Given the description of an element on the screen output the (x, y) to click on. 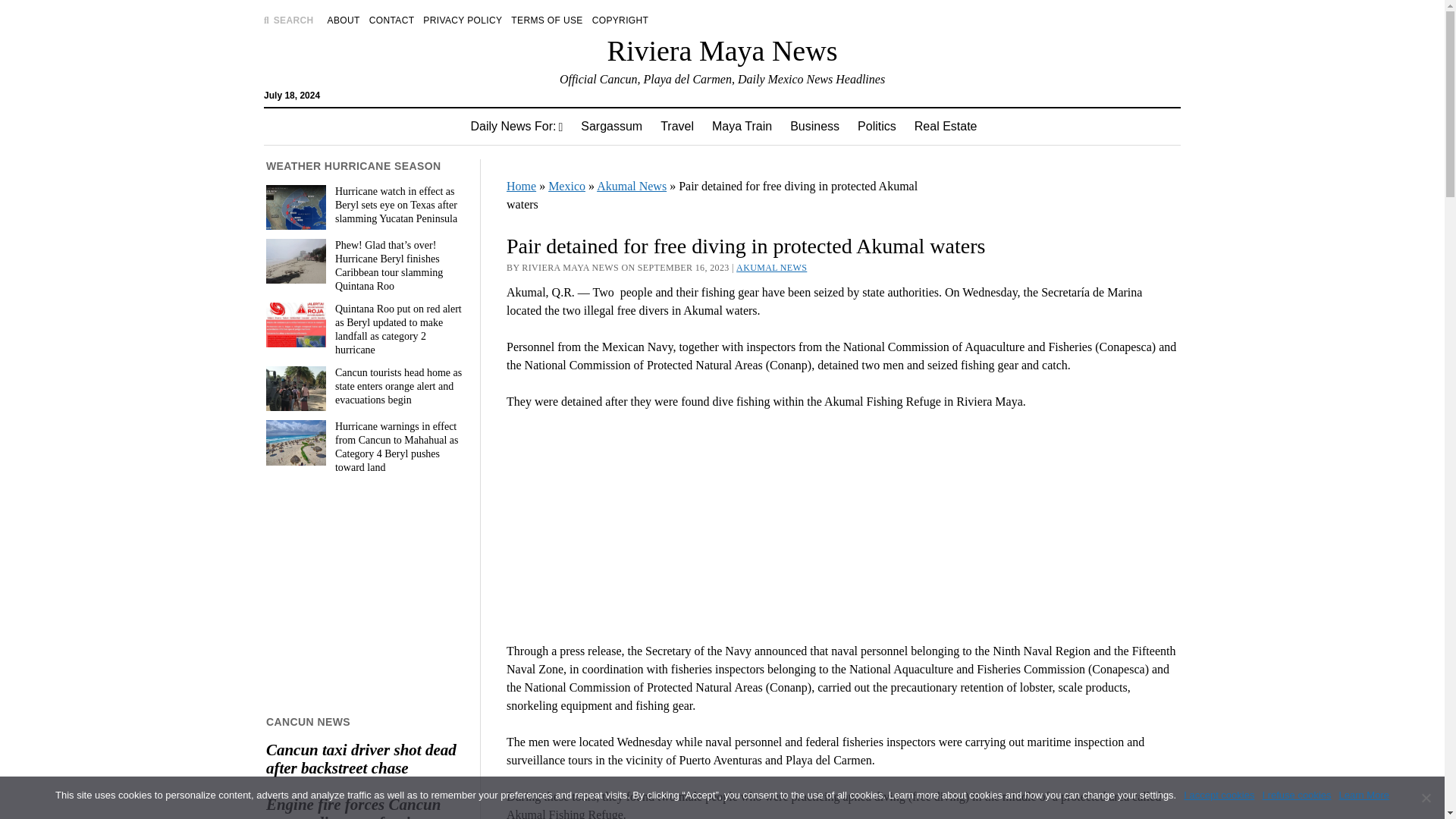
Sargassum (611, 126)
Riviera Maya News (722, 50)
I refuse cookies (1425, 797)
COPYRIGHT (620, 20)
Travel (676, 126)
Search (945, 129)
Daily News For: (516, 126)
Maya Train (741, 126)
TERMS OF USE (546, 20)
ABOUT (343, 20)
PRIVACY POLICY (462, 20)
Business (814, 126)
CONTACT (391, 20)
SEARCH (288, 20)
View all posts in Akumal News (771, 267)
